Given the description of an element on the screen output the (x, y) to click on. 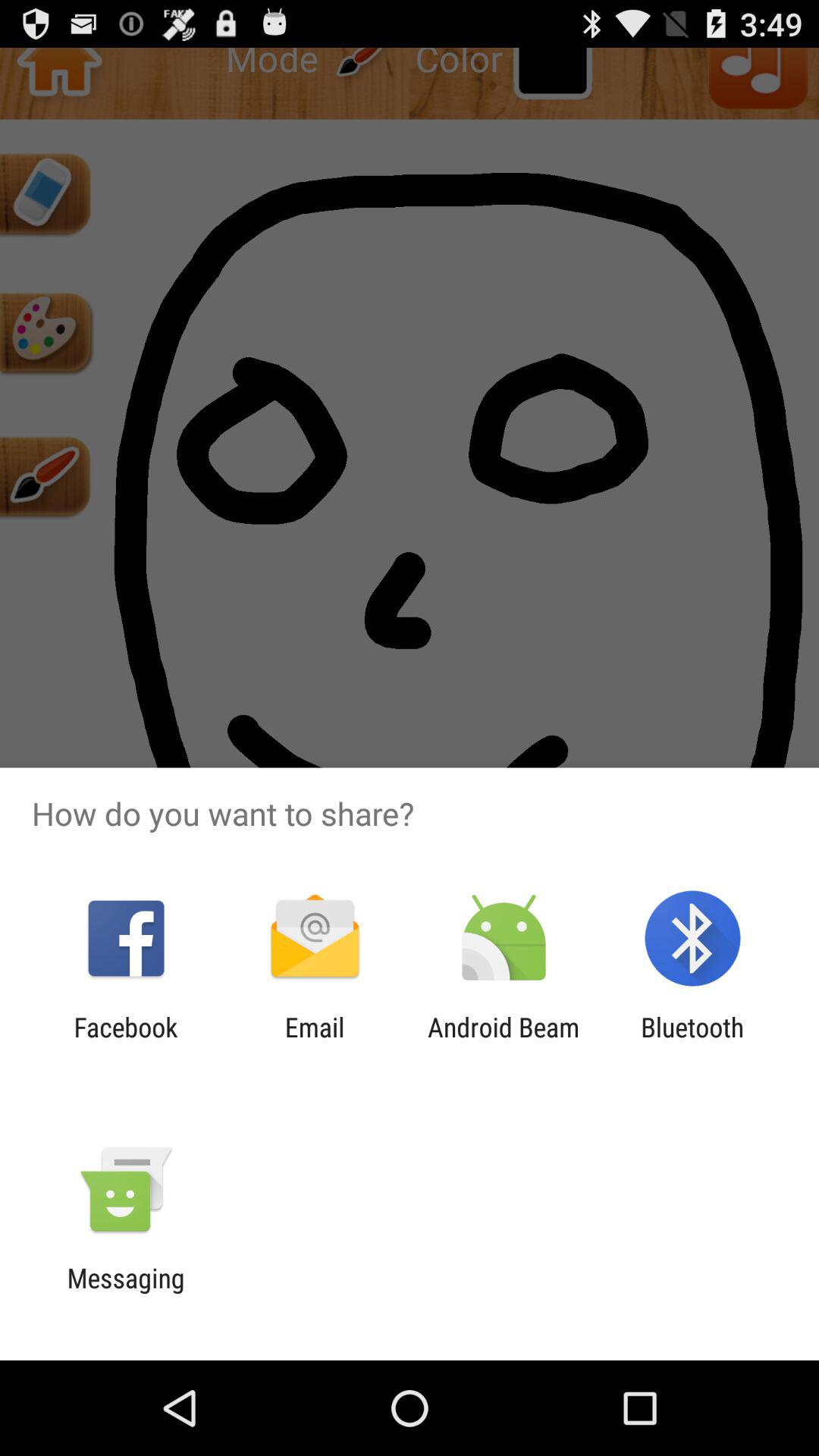
press icon next to the android beam (314, 1042)
